Given the description of an element on the screen output the (x, y) to click on. 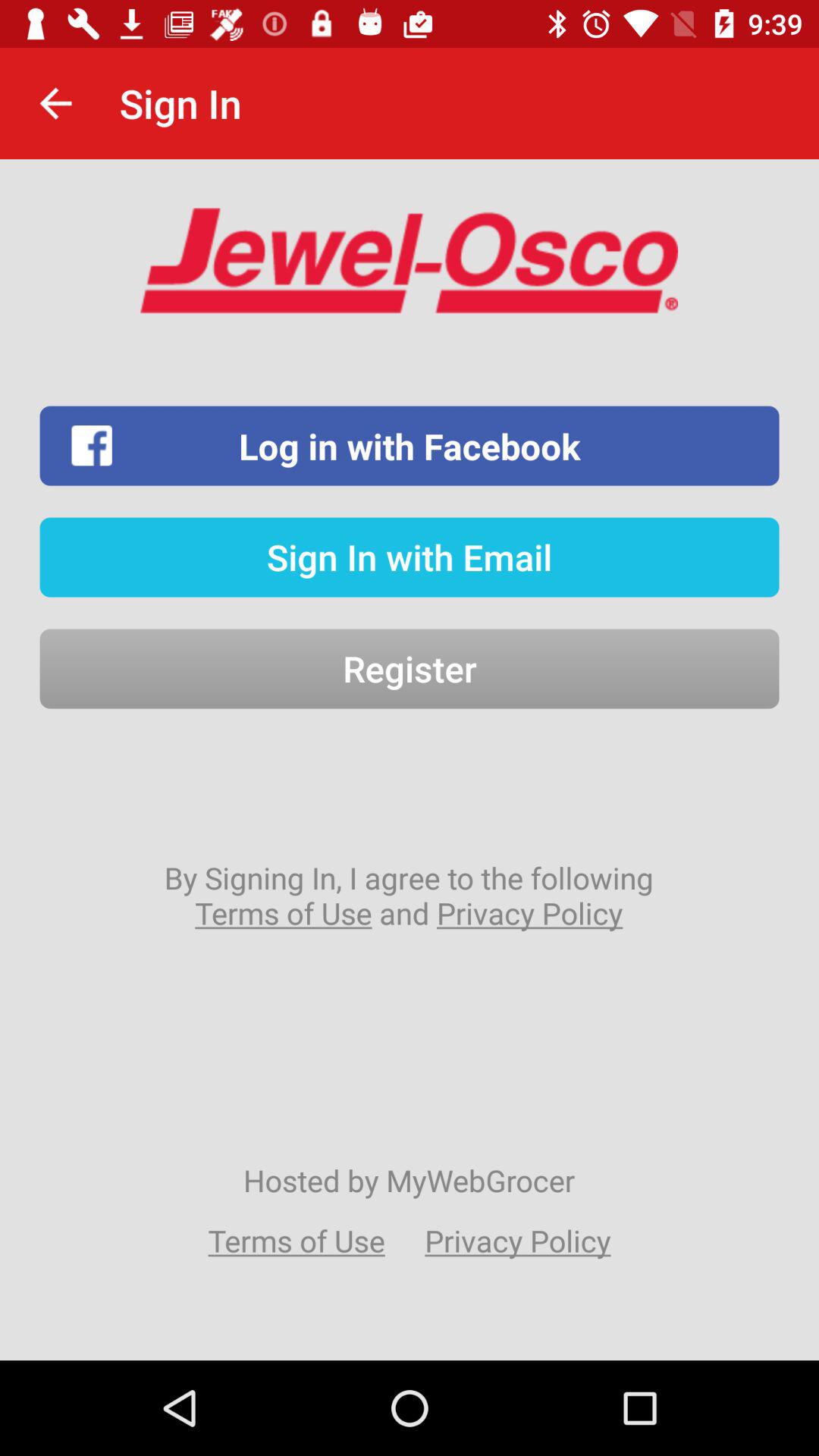
launch icon next to sign in icon (55, 103)
